Given the description of an element on the screen output the (x, y) to click on. 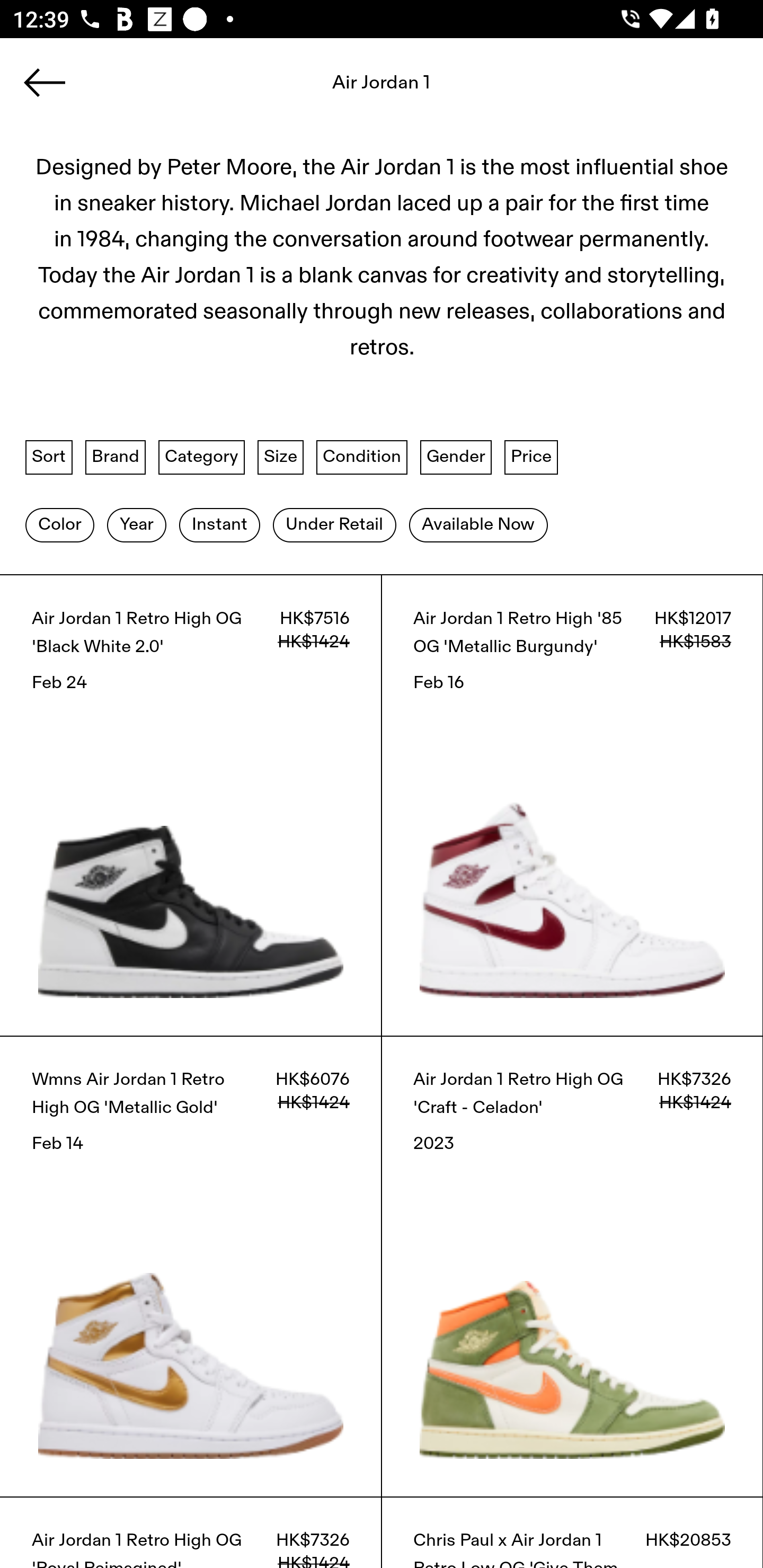
Search (381, 88)
Sort (48, 457)
Brand (115, 457)
Category (201, 457)
Size (280, 457)
Condition (361, 457)
Gender (455, 457)
Price (530, 457)
Color (59, 524)
Year (136, 524)
Instant (219, 524)
Under Retail (334, 524)
Available Now (477, 524)
